Given the description of an element on the screen output the (x, y) to click on. 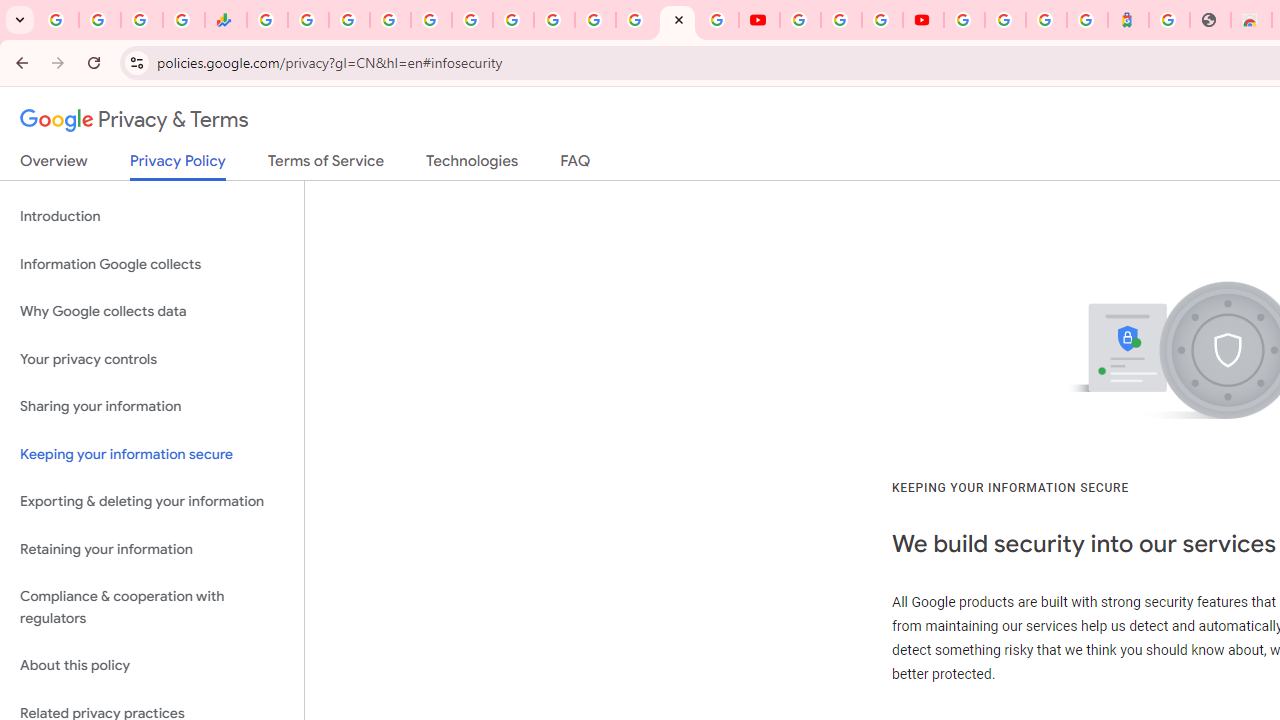
Privacy Checkup (717, 20)
Overview (54, 165)
Sign in - Google Accounts (594, 20)
YouTube (799, 20)
Why Google collects data (152, 312)
Sign in - Google Accounts (389, 20)
Compliance & cooperation with regulators (152, 607)
Your privacy controls (152, 358)
Google Account Help (840, 20)
Sharing your information (152, 407)
